Given the description of an element on the screen output the (x, y) to click on. 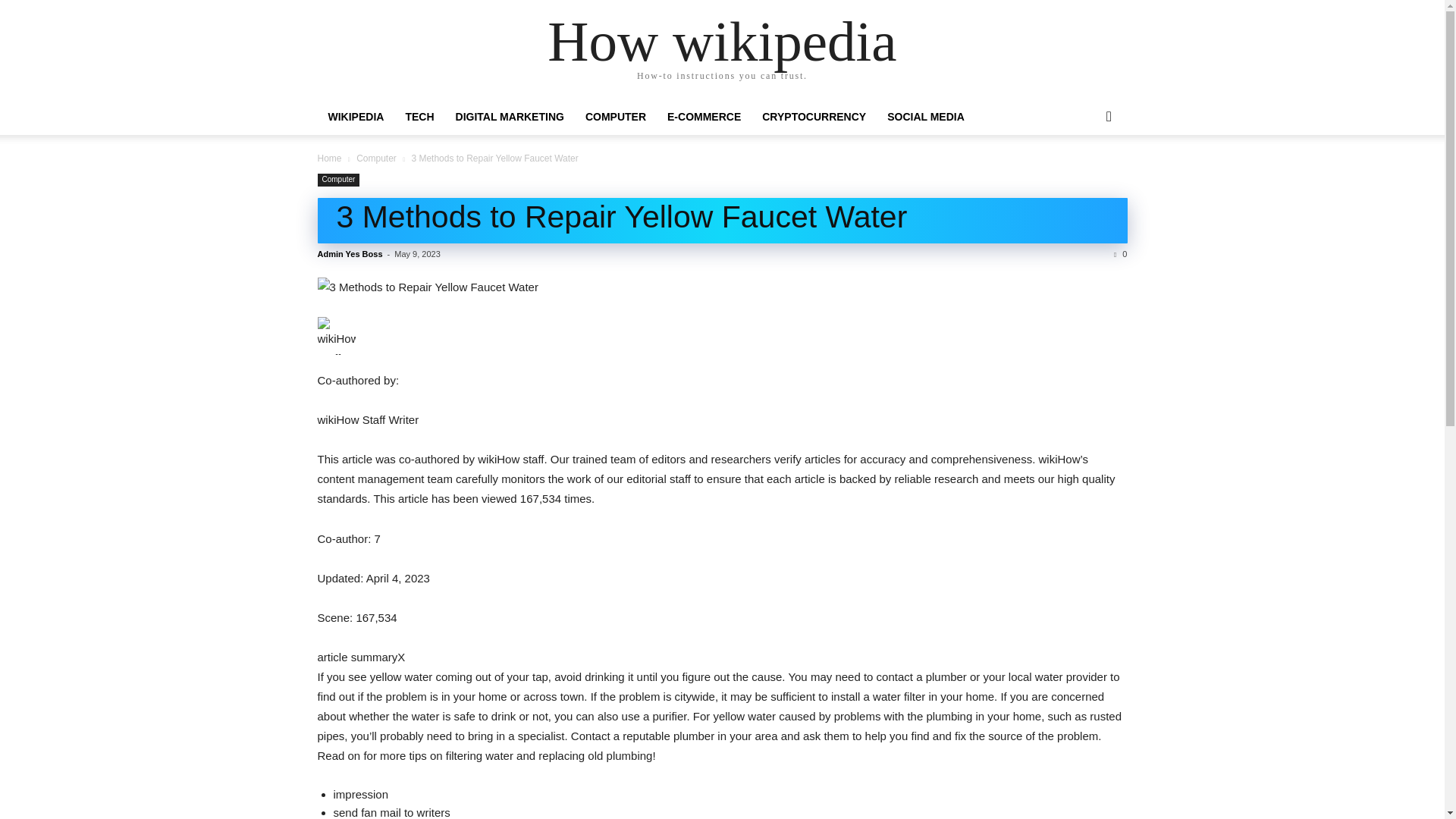
CRYPTOCURRENCY (813, 116)
3 Methods to Repair Yellow Faucet Water (621, 216)
How wikipedia (721, 41)
3 Methods to Repair Yellow Faucet Water (721, 287)
WIKIPEDIA (355, 116)
View all posts in Computer (376, 158)
Search (1085, 177)
Home (328, 158)
COMPUTER (615, 116)
DIGITAL MARKETING (510, 116)
0 (1119, 253)
TECH (419, 116)
E-COMMERCE (703, 116)
SOCIAL MEDIA (925, 116)
Admin Yes Boss (349, 253)
